Given the description of an element on the screen output the (x, y) to click on. 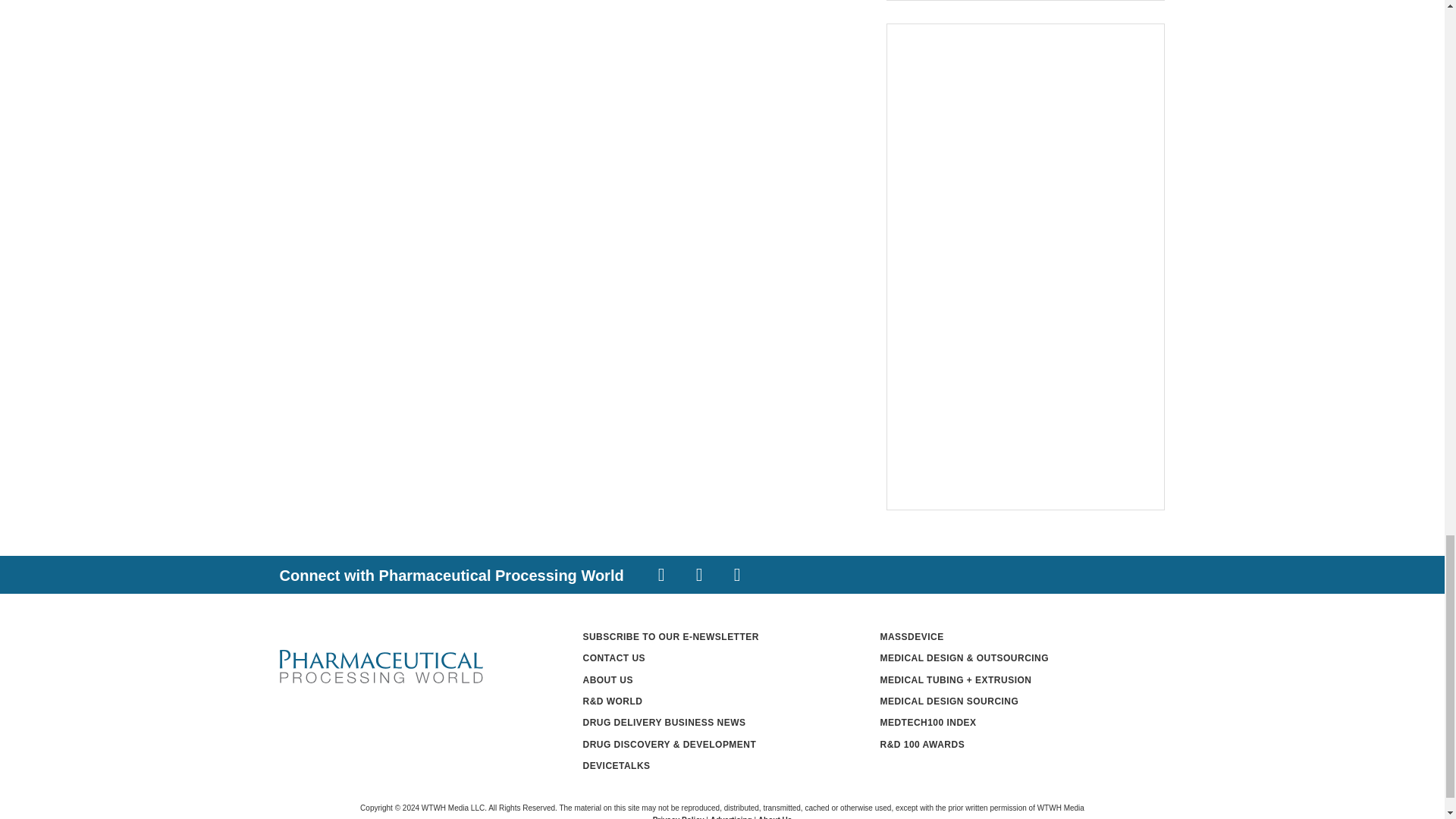
ABOUT US (607, 679)
DRUG DELIVERY BUSINESS NEWS (663, 722)
Pharmaceutical Processing World (380, 666)
MASSDEVICE (911, 636)
SUBSCRIBE TO OUR E-NEWSLETTER (670, 636)
CONTACT US (613, 657)
DEVICETALKS (615, 765)
